Given the description of an element on the screen output the (x, y) to click on. 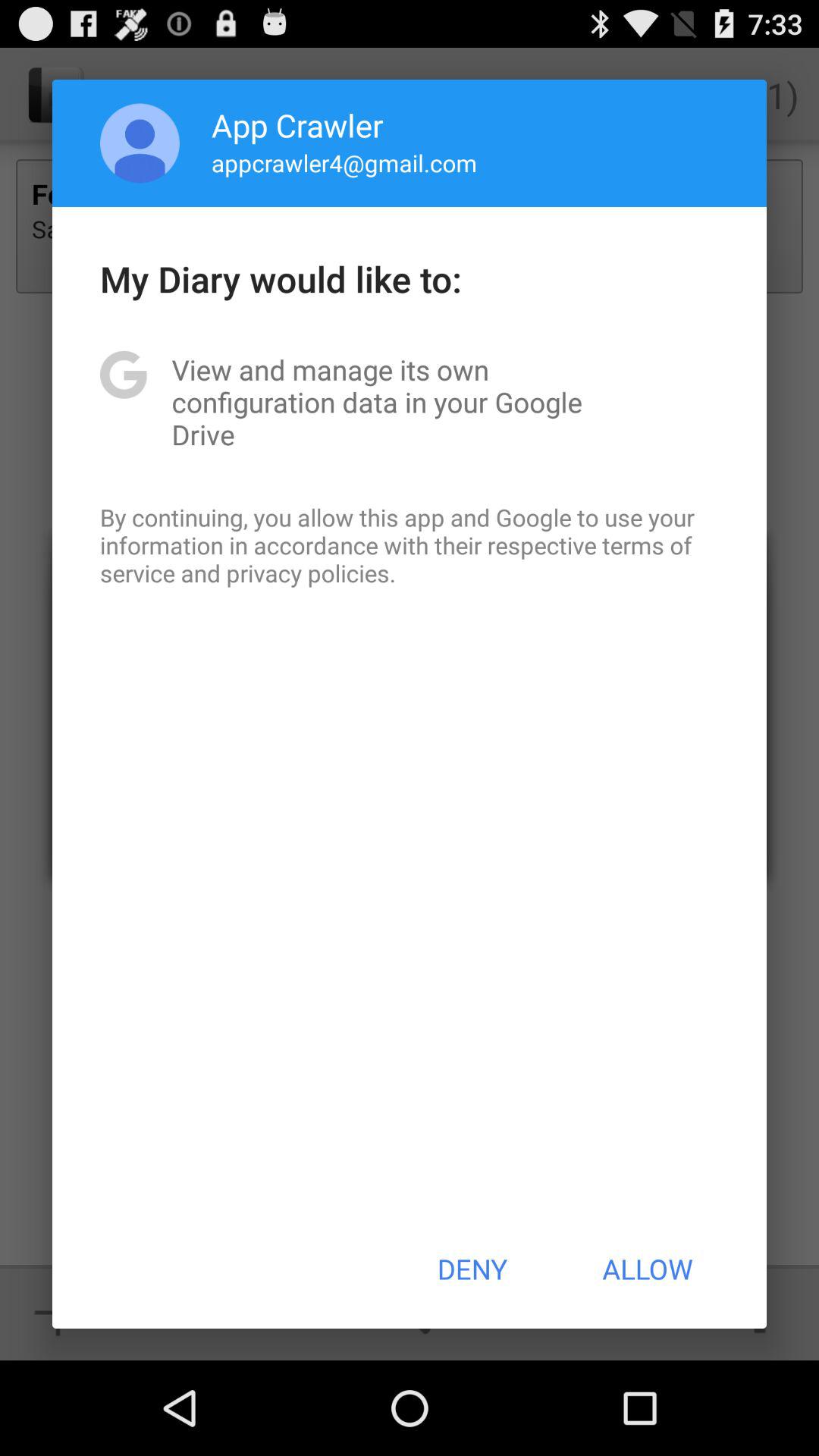
press app above appcrawler4@gmail.com app (297, 124)
